Given the description of an element on the screen output the (x, y) to click on. 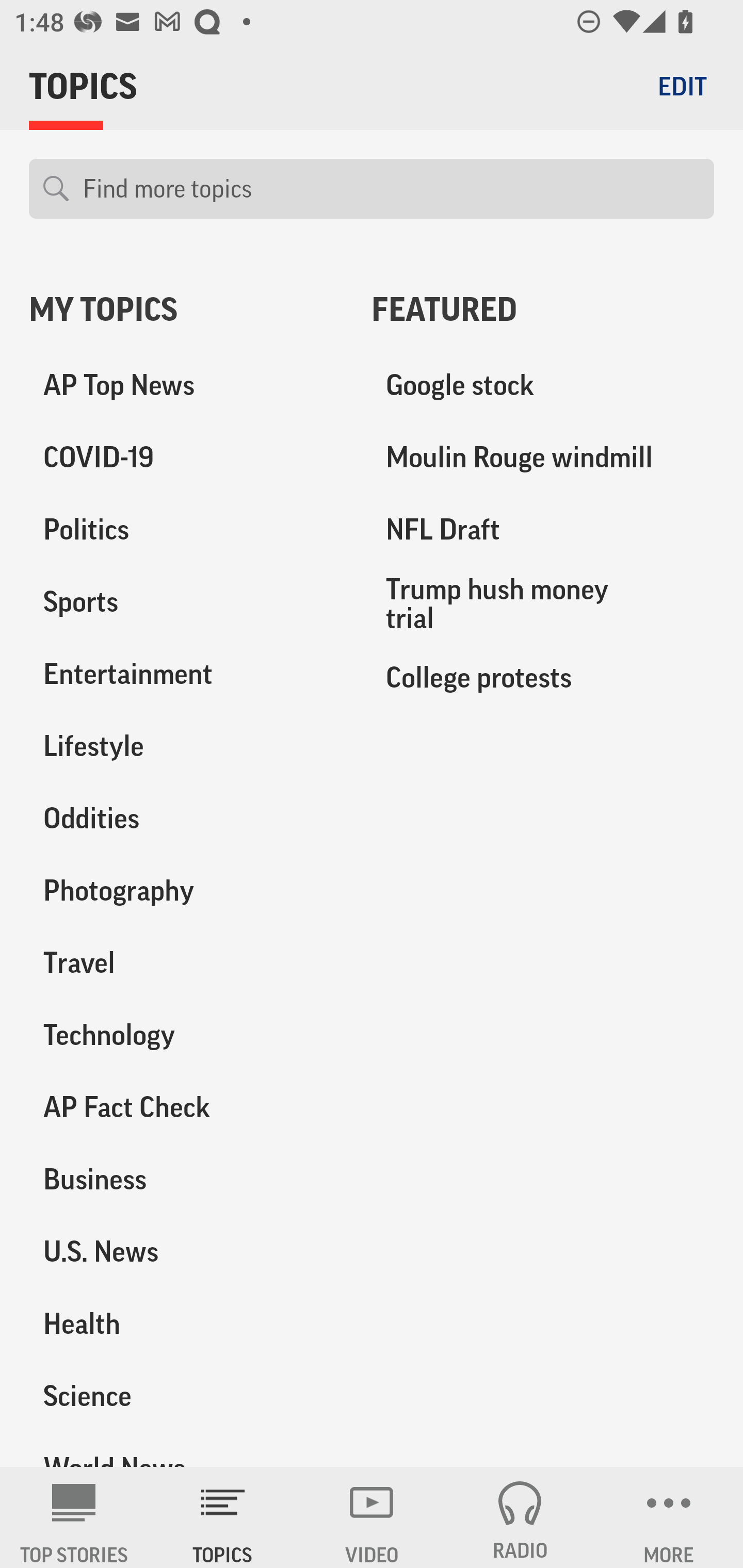
EDIT (682, 86)
Find more topics (391, 188)
AP Top News (185, 385)
Google stock (542, 385)
COVID-19 (185, 457)
Moulin Rouge windmill (542, 457)
Politics (185, 529)
NFL Draft (542, 529)
Sports (185, 602)
Trump hush money trial (542, 603)
Entertainment (185, 674)
College protests (542, 677)
Lifestyle (185, 746)
Oddities (185, 818)
Photography (185, 890)
Travel (185, 962)
Technology (185, 1034)
AP Fact Check (185, 1106)
Business (185, 1179)
U.S. News (185, 1251)
Health (185, 1323)
Science (185, 1395)
AP News TOP STORIES (74, 1517)
TOPICS (222, 1517)
VIDEO (371, 1517)
RADIO (519, 1517)
MORE (668, 1517)
